Given the description of an element on the screen output the (x, y) to click on. 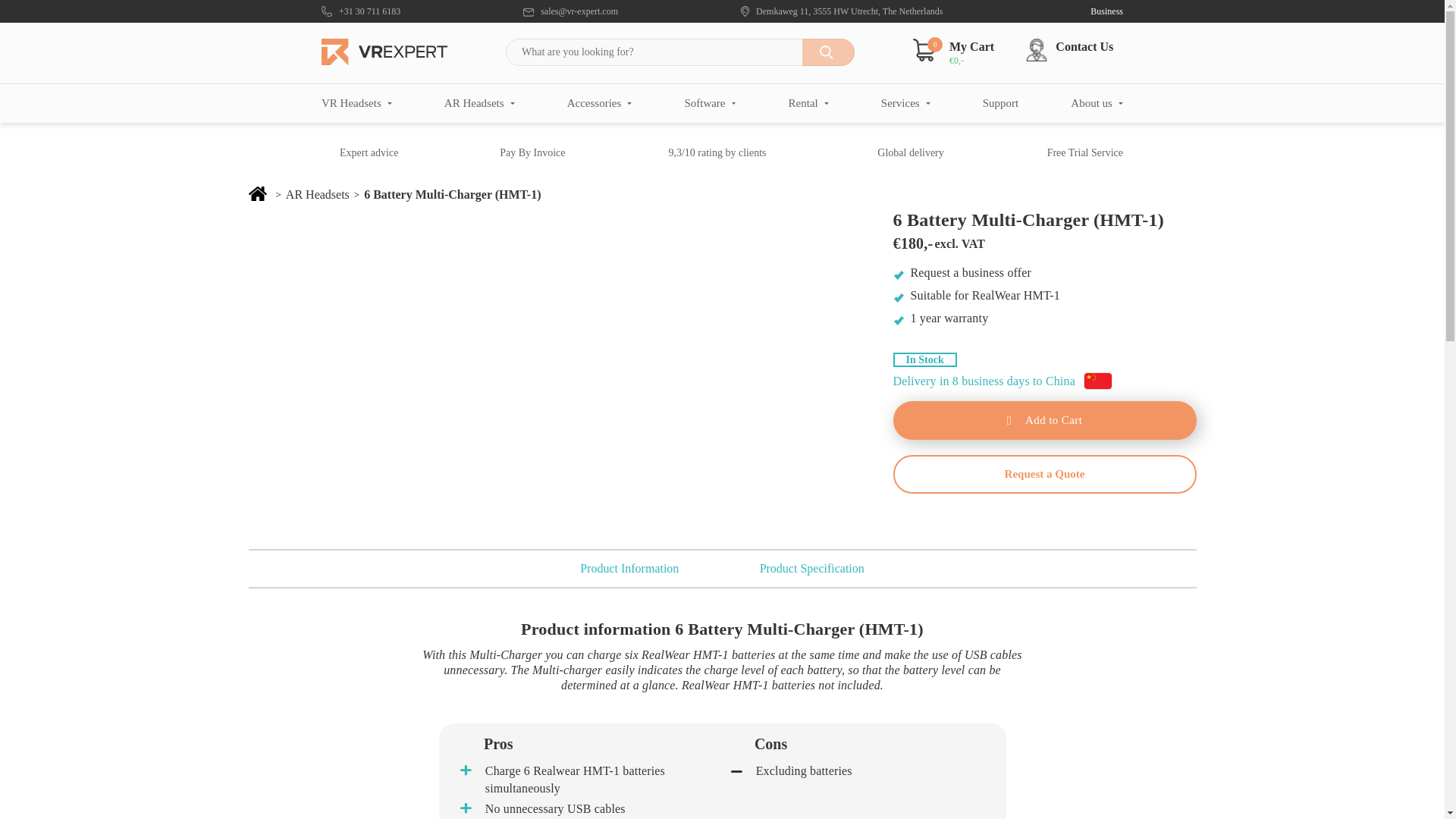
Search for products here ... (679, 52)
0 (924, 48)
Accessories (599, 103)
Contact Us (1075, 49)
Services (905, 103)
Software (709, 103)
AR Headsets (479, 103)
Rental (808, 103)
VR Headsets (356, 103)
Support (1000, 103)
